Given the description of an element on the screen output the (x, y) to click on. 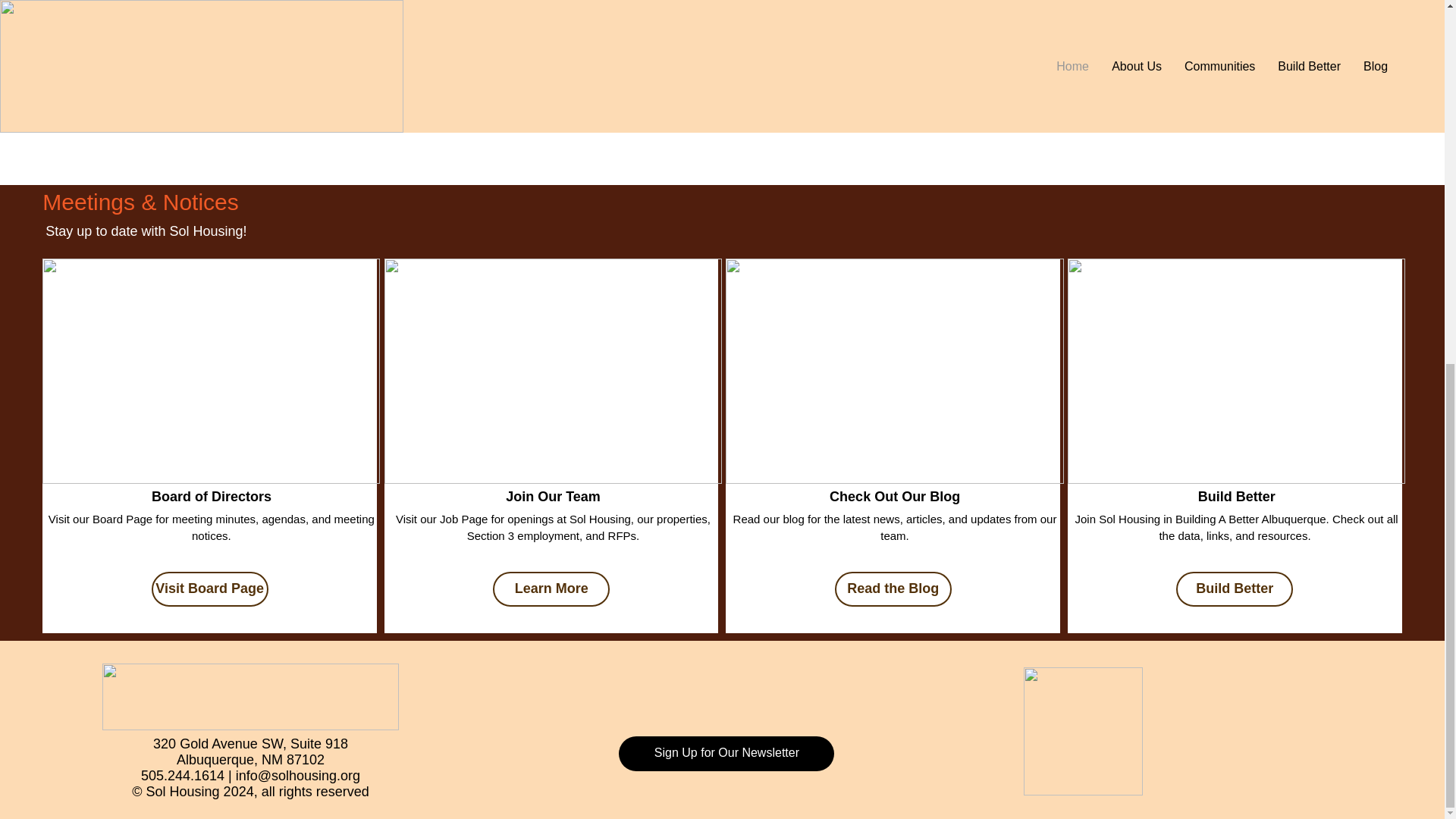
Learn More (122, 107)
Build Better (1234, 588)
Visit Board Page (209, 588)
Sign Up for Our Newsletter (726, 753)
Learn More (551, 588)
Read the Blog (893, 588)
